Given the description of an element on the screen output the (x, y) to click on. 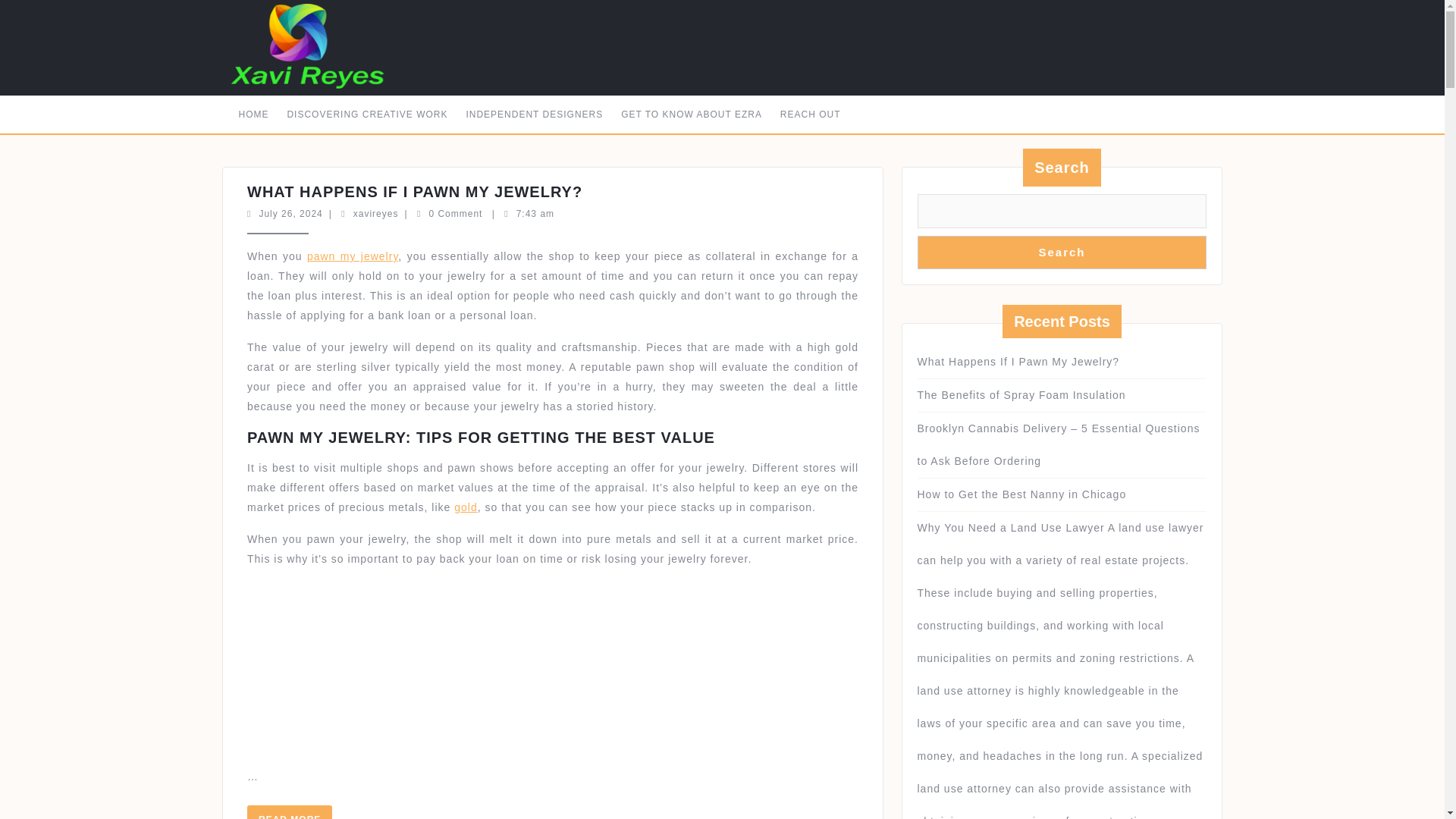
INDEPENDENT DESIGNERS (534, 113)
REACH OUT (810, 113)
GET TO KNOW ABOUT EZRA (691, 113)
gold (551, 434)
HOME (253, 113)
DISCOVERING CREATIVE WORK (555, 480)
What Happens If I Pawn My Jewelry? (550, 402)
pawn my jewelry (366, 113)
